Given the description of an element on the screen output the (x, y) to click on. 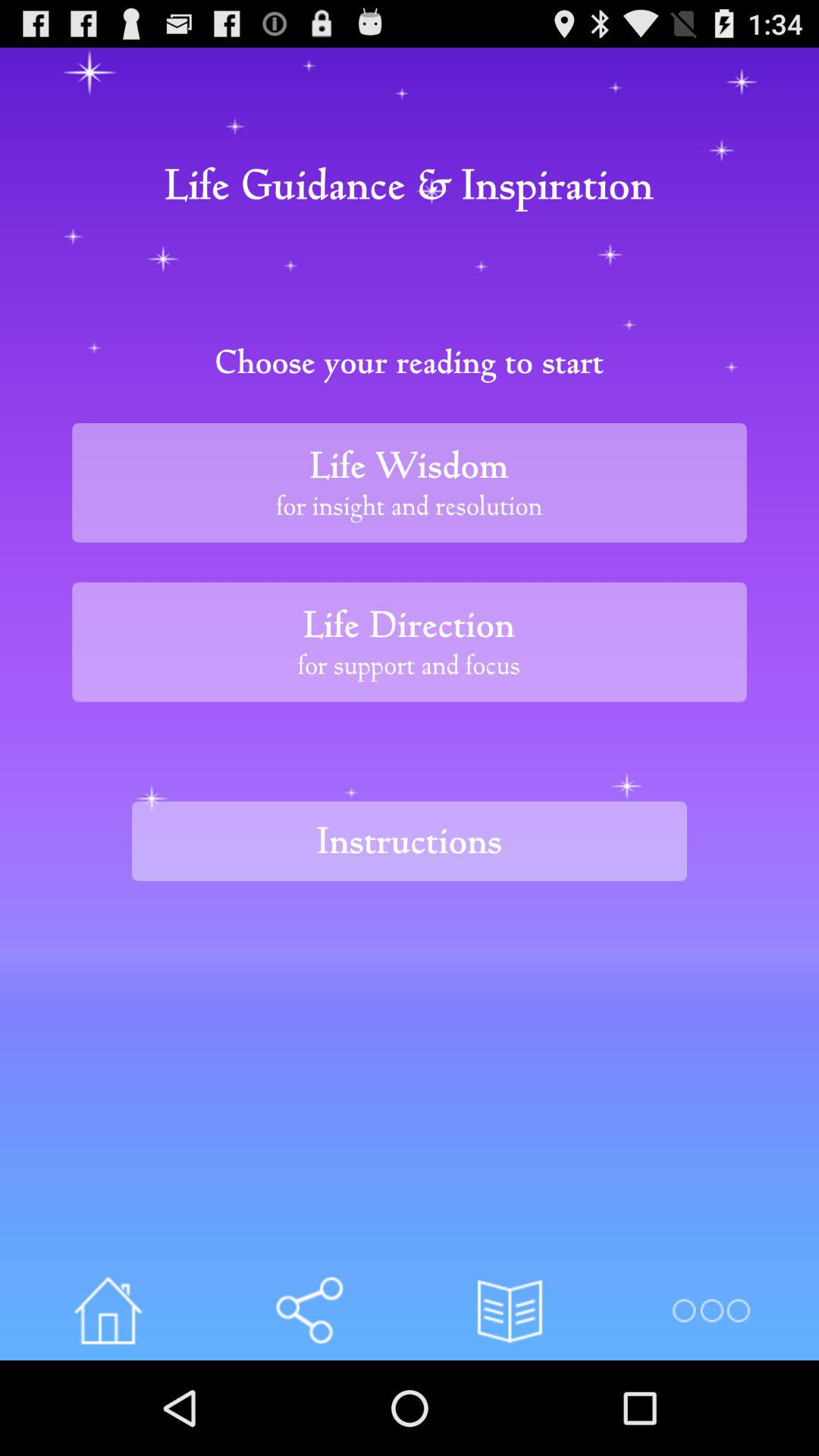
show readings (509, 1310)
